Given the description of an element on the screen output the (x, y) to click on. 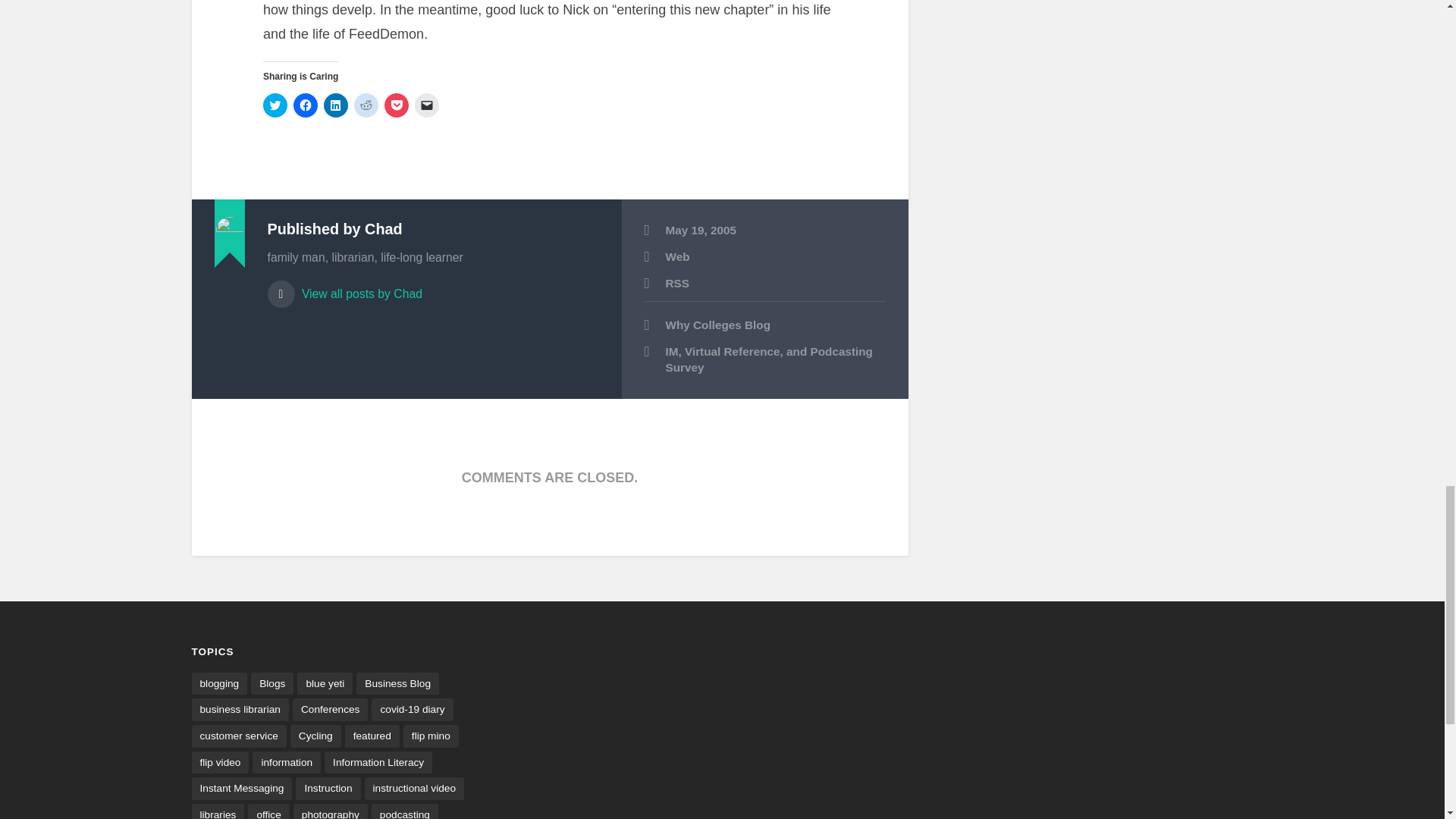
Click to share on Facebook (305, 105)
Click to share on LinkedIn (335, 105)
Web (677, 256)
Click to share on Reddit (365, 105)
Click to share on Twitter (274, 105)
View all posts by Chad (432, 286)
RSS (676, 282)
Click to email a link to a friend (426, 105)
Click to share on Pocket (396, 105)
Why Colleges Blog (765, 325)
